Given the description of an element on the screen output the (x, y) to click on. 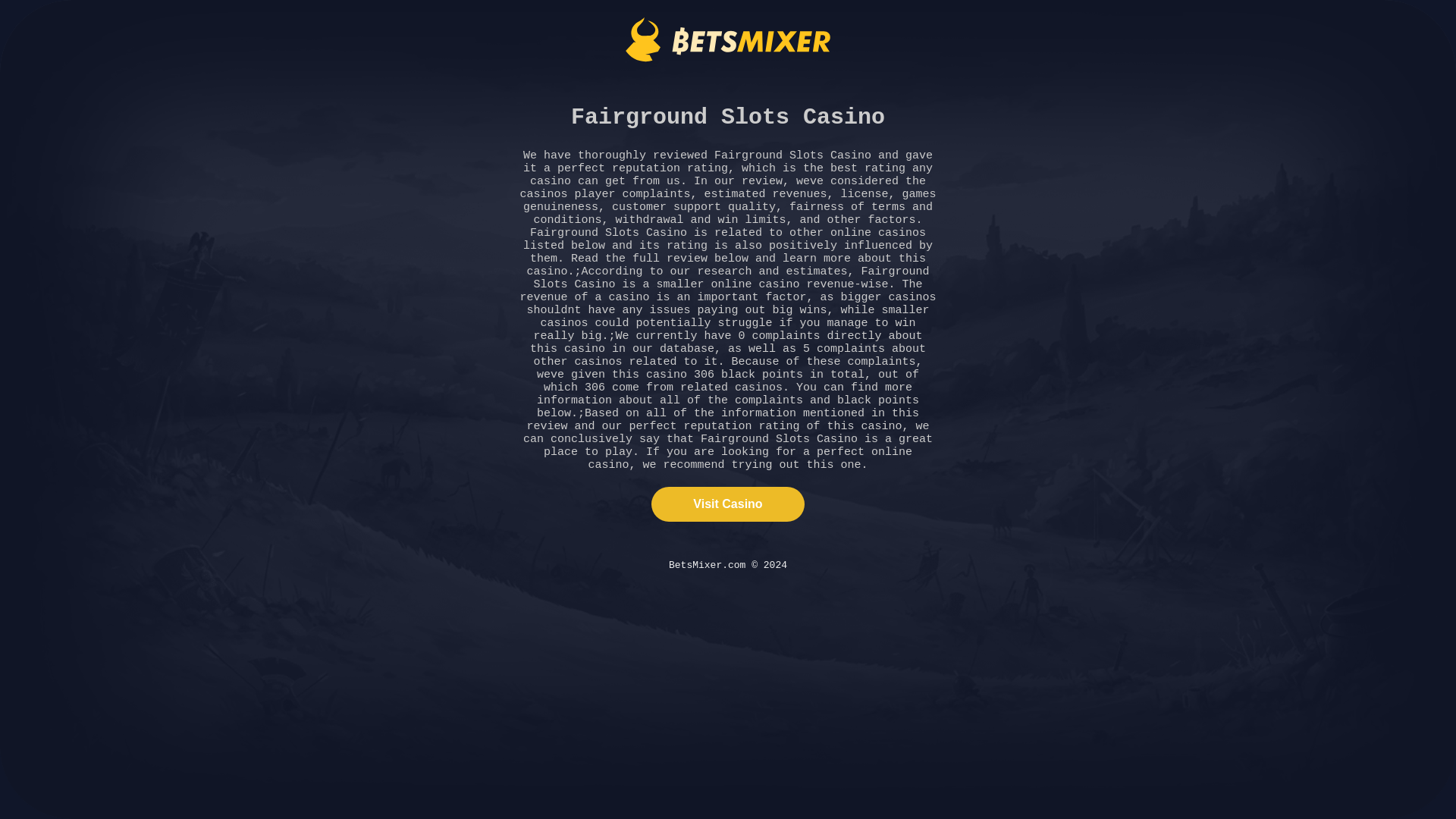
BetsMixer.com (727, 39)
Visit Casino (726, 503)
